Given the description of an element on the screen output the (x, y) to click on. 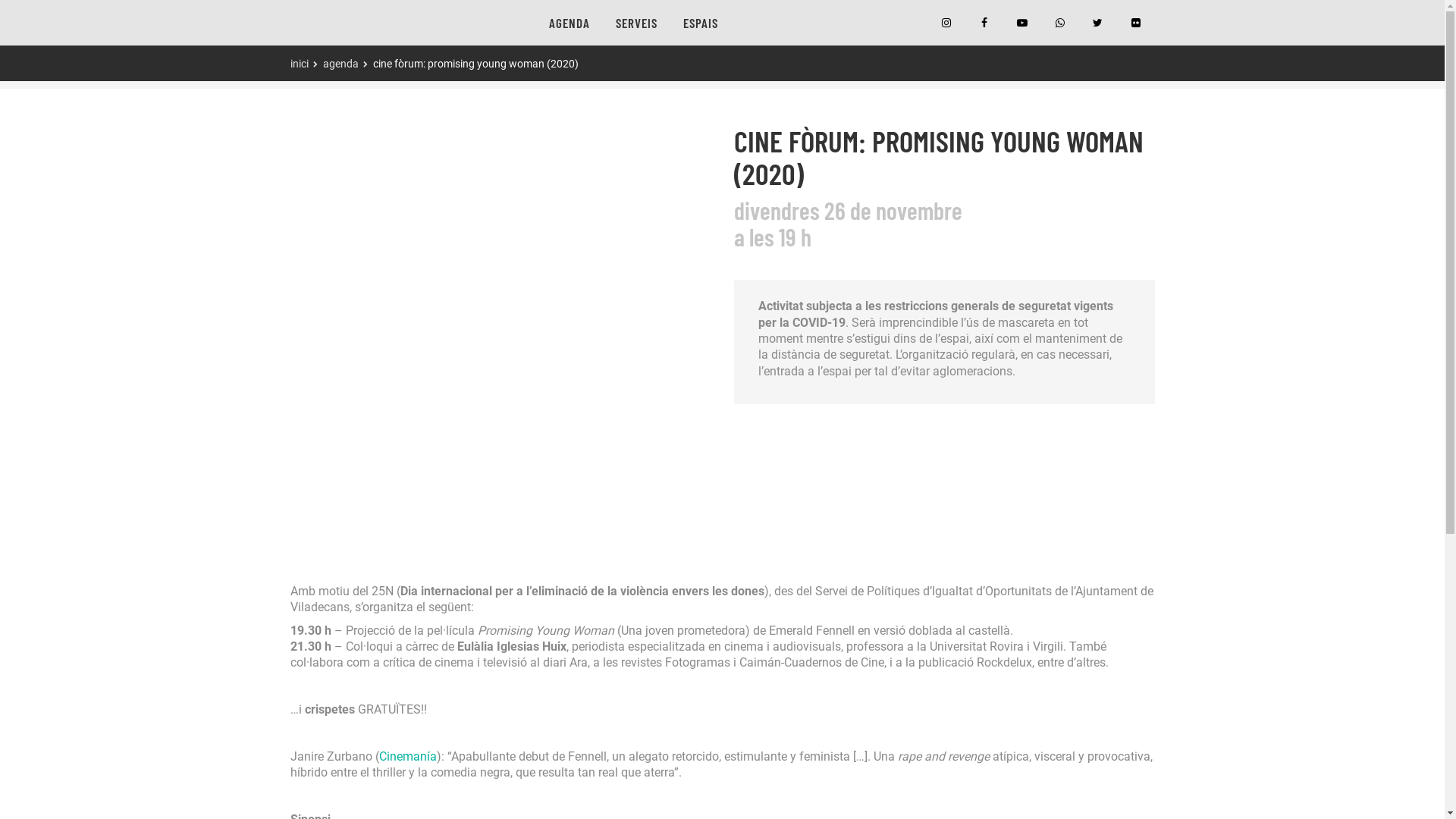
Parc de Can Xic, 1 Element type: text (332, 534)
Facebook Element type: hover (983, 22)
Flickr Element type: hover (1135, 22)
canxic@viladecans.cat Element type: text (345, 590)
AGENDA Element type: text (568, 22)
Instagram Element type: hover (945, 22)
YouTube Element type: hover (1021, 22)
Twitter Element type: hover (1097, 22)
Accessibilitat Element type: text (329, 662)
SERVEIS Element type: text (635, 22)
ESPAIS Element type: text (700, 22)
Enviar Element type: text (909, 727)
WhatsApp Element type: hover (1059, 22)
agenda Element type: text (340, 63)
inici Element type: text (298, 63)
Pla Local de Joventut Element type: text (349, 626)
